Given the description of an element on the screen output the (x, y) to click on. 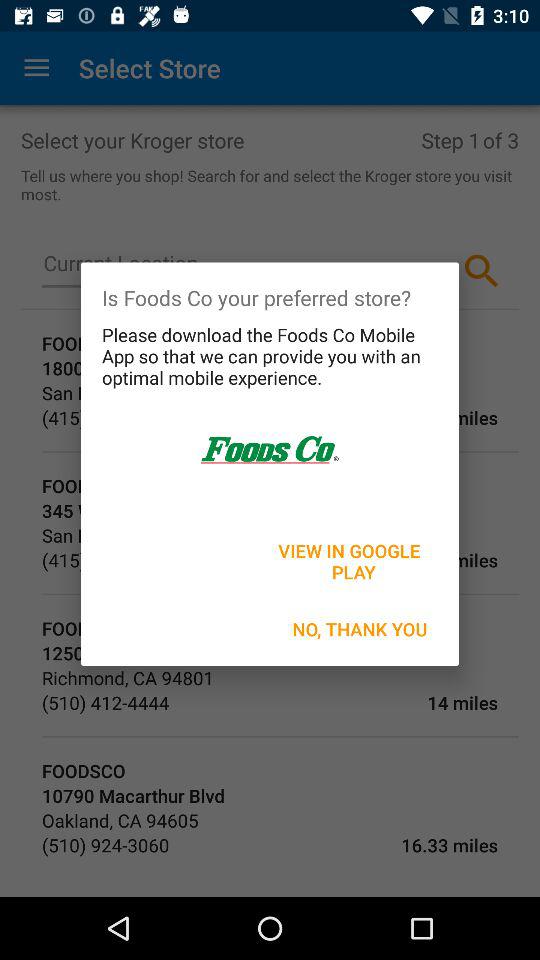
open no, thank you icon (359, 628)
